Given the description of an element on the screen output the (x, y) to click on. 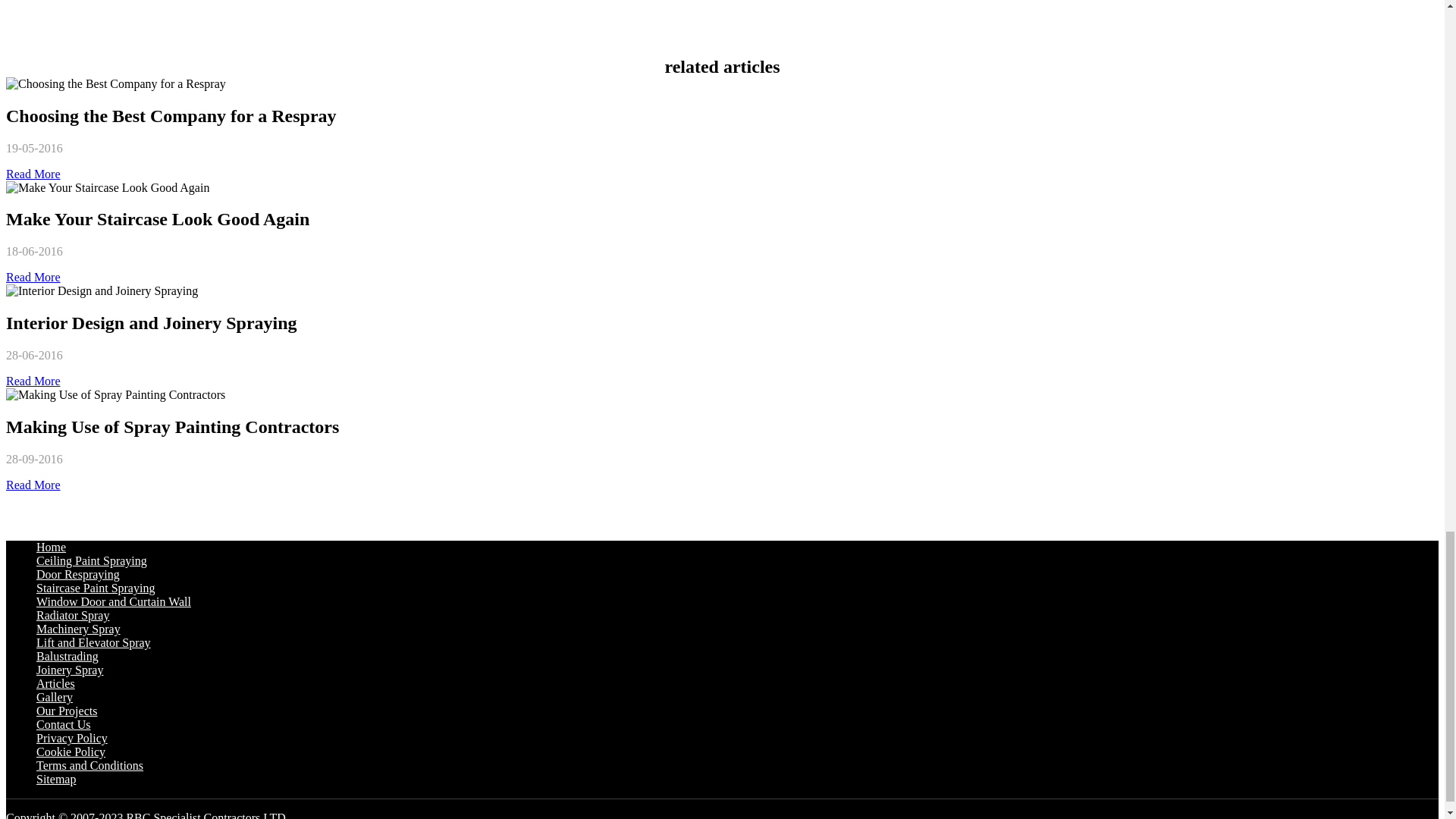
Balustrading (67, 656)
Machinery Spray (78, 628)
Home (50, 546)
Ceiling Paint Spraying (91, 560)
Read More (33, 484)
Window Door and Curtain Wall (113, 601)
Read More (33, 380)
Door Respraying (77, 574)
Lift and Elevator Spray (93, 642)
Articles (55, 683)
Joinery Spray (69, 669)
Radiator Spray (72, 615)
Staircase Paint Spraying (95, 587)
Read More (33, 277)
Gallery (54, 697)
